Given the description of an element on the screen output the (x, y) to click on. 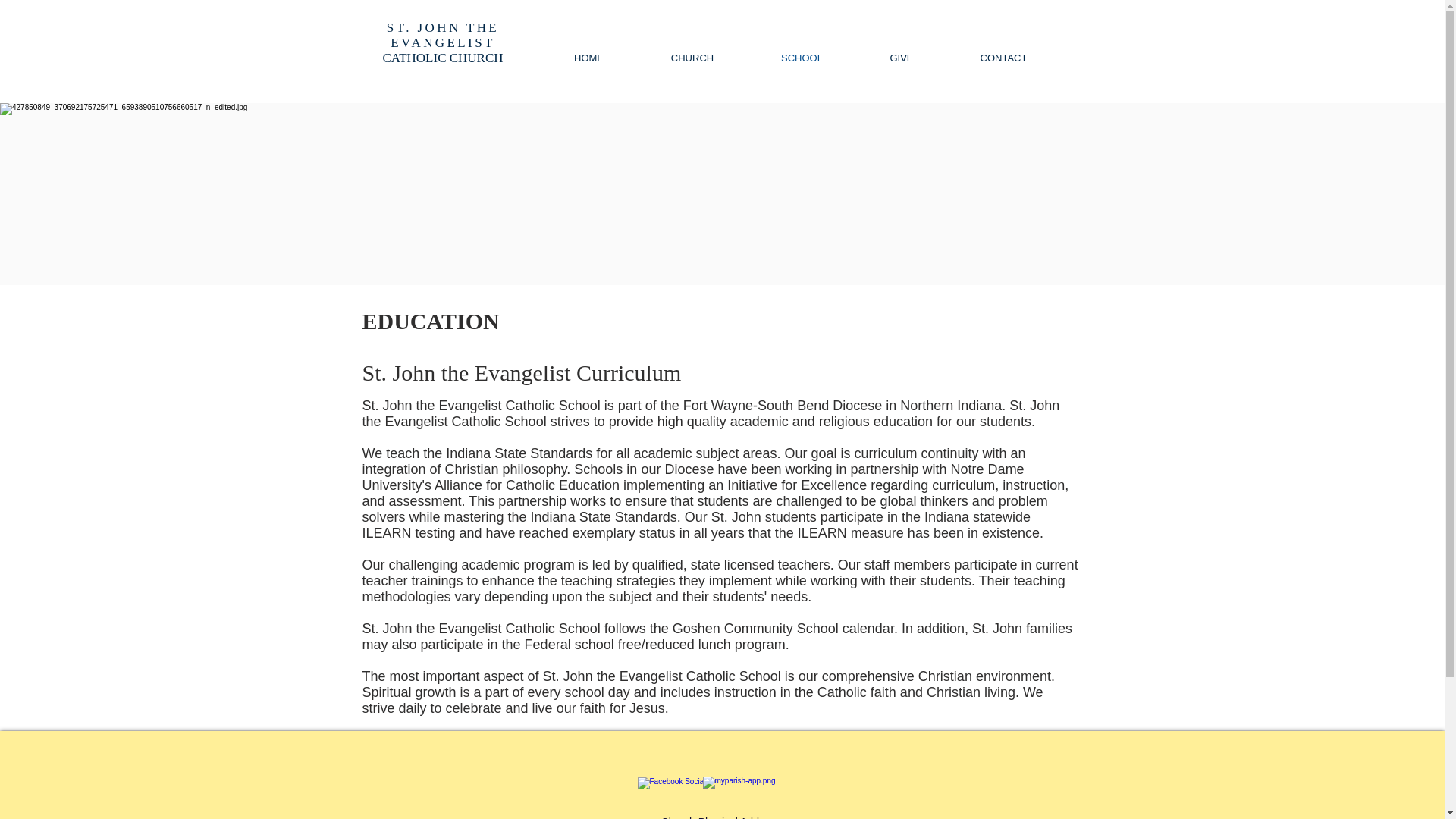
HOME (588, 57)
CONTACT (1002, 57)
GIVE (902, 57)
CHURCH (441, 42)
SCHOOL (691, 57)
